Given the description of an element on the screen output the (x, y) to click on. 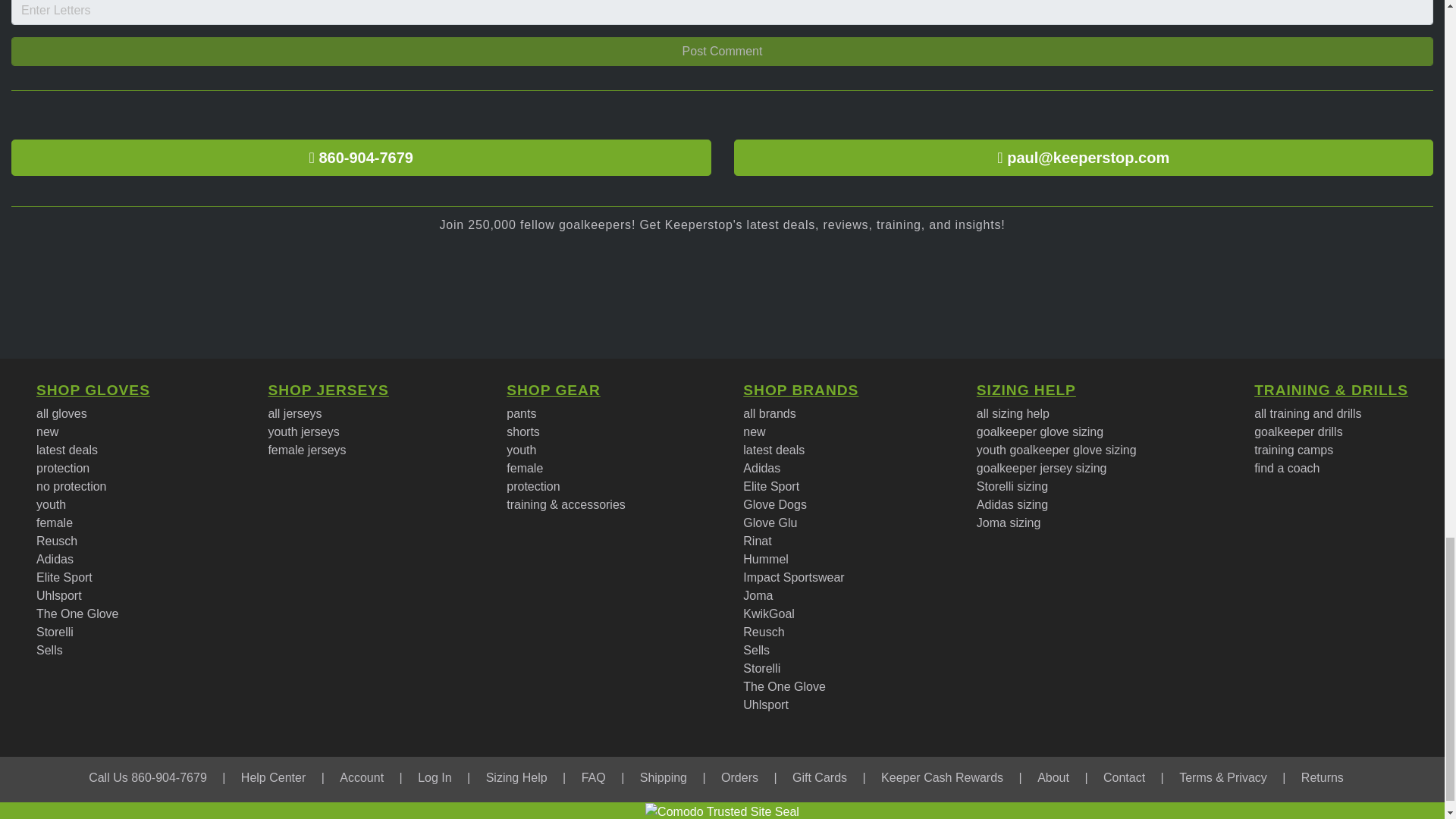
Post Comment (721, 51)
